Given the description of an element on the screen output the (x, y) to click on. 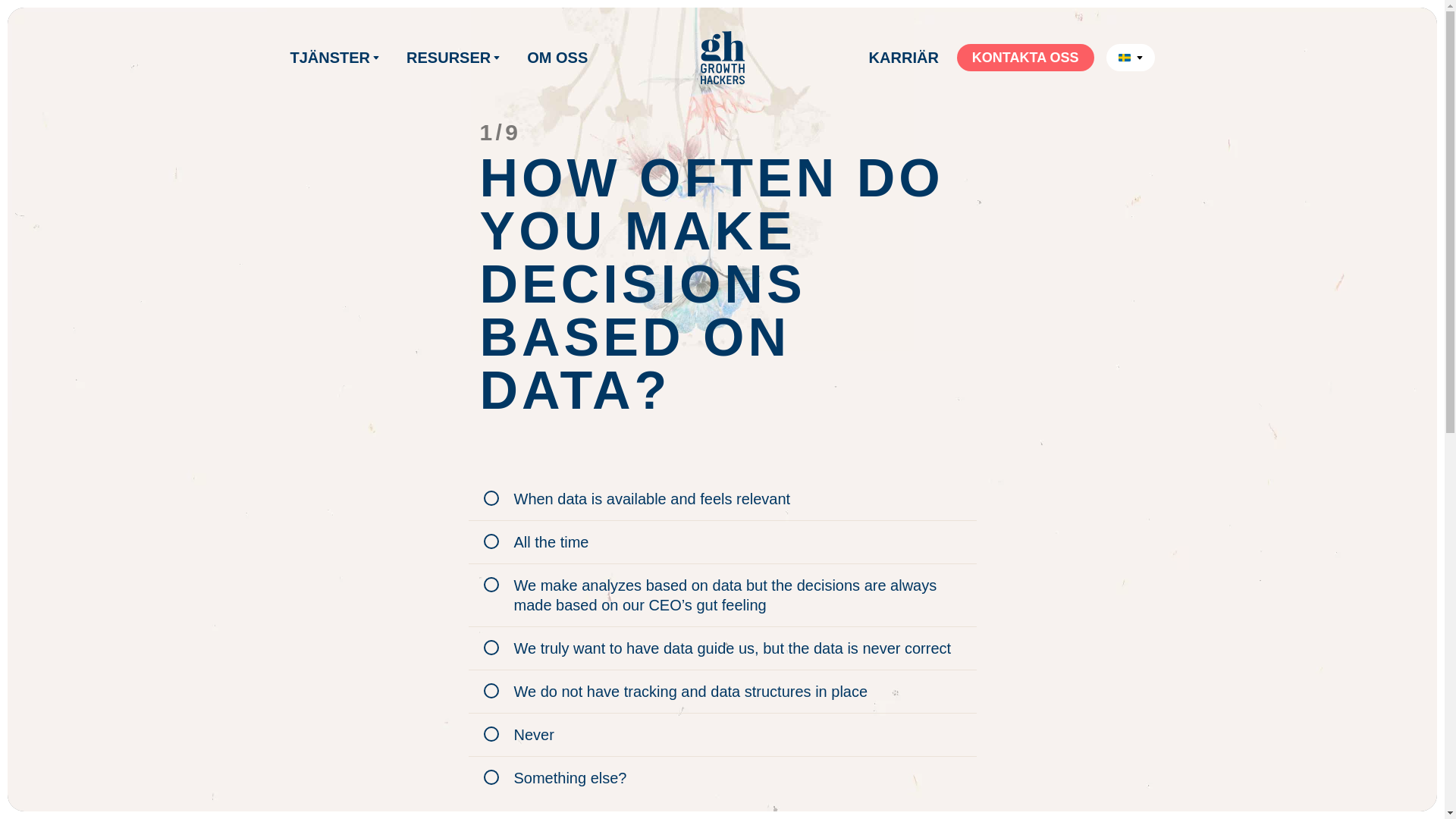
Growth Hackers (721, 57)
RESURSER (451, 57)
OM OSS (557, 57)
KONTAKTA OSS (1025, 57)
